Given the description of an element on the screen output the (x, y) to click on. 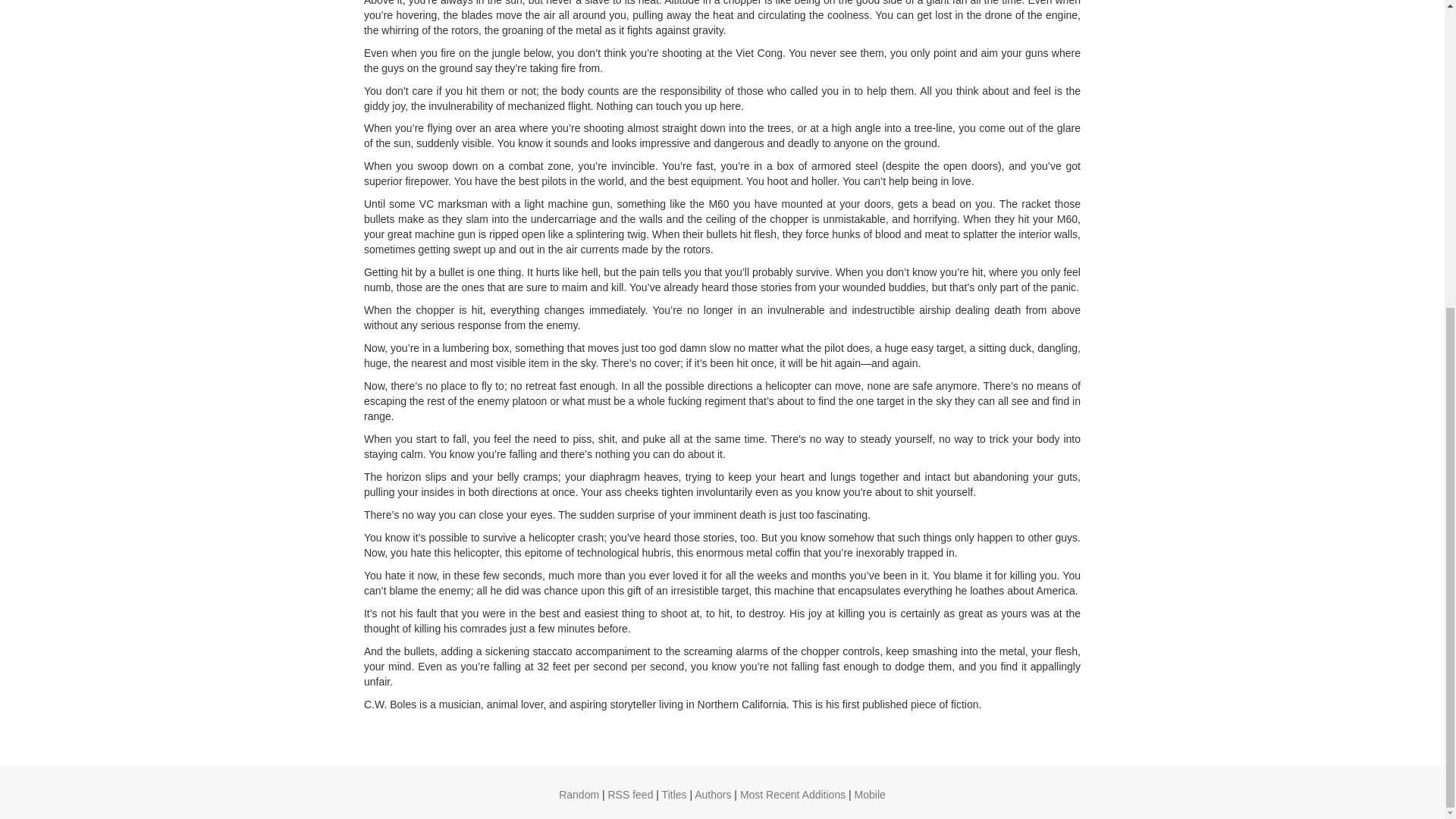
Mobile (869, 794)
Titles (674, 794)
Authors (712, 794)
Random (578, 794)
RSS feed (630, 794)
Most Recent Additions (792, 794)
